Given the description of an element on the screen output the (x, y) to click on. 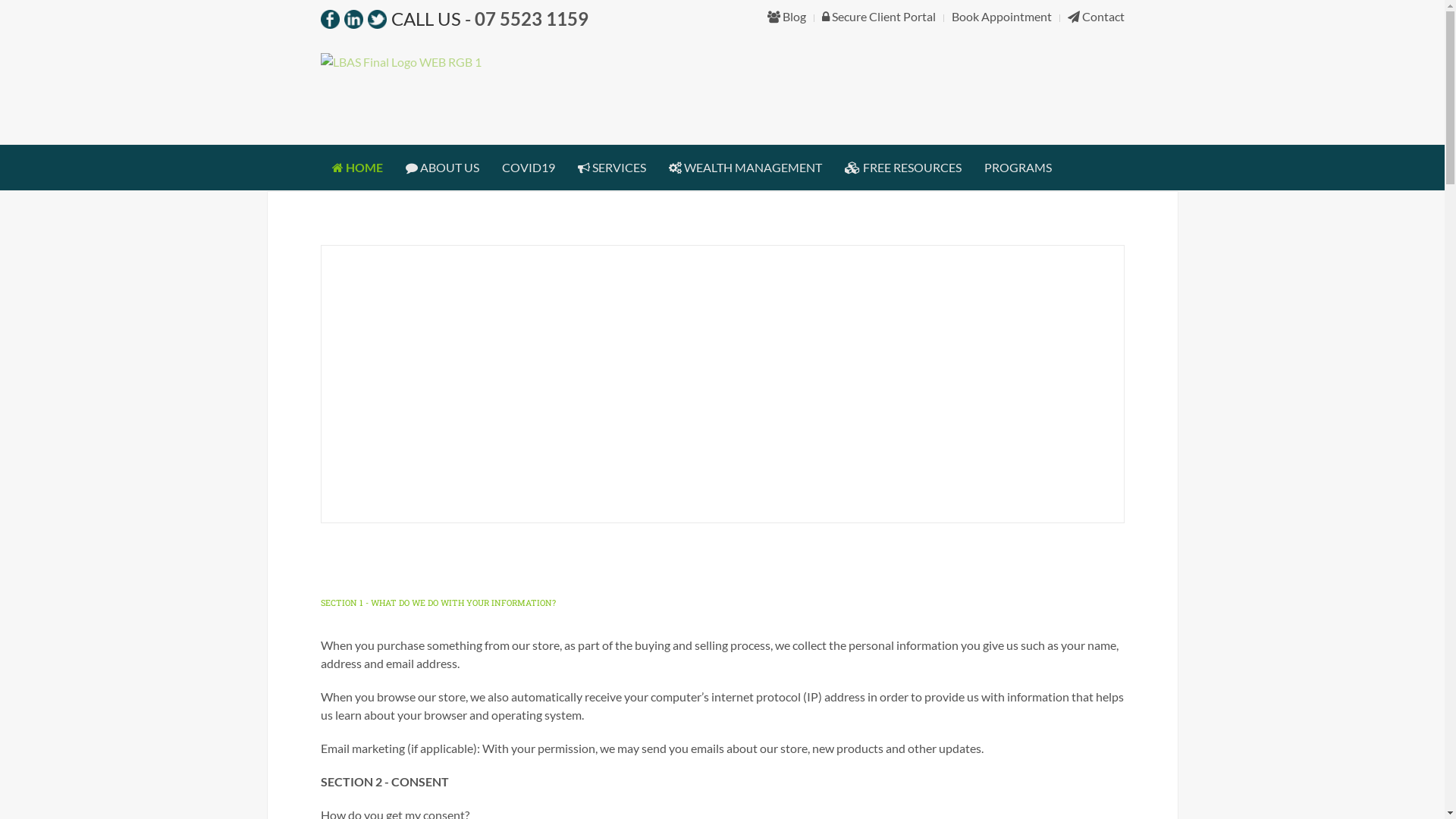
FREE RESOURCES Element type: text (902, 167)
PROGRAMS Element type: text (1017, 167)
ABOUT US Element type: text (442, 167)
Contact Element type: text (1095, 16)
COVID19 Element type: text (527, 167)
SERVICES Element type: text (610, 167)
Secure Client Portal Element type: text (878, 16)
WEALTH MANAGEMENT Element type: text (744, 167)
HOME Element type: text (356, 167)
Blog Element type: text (786, 16)
Book Appointment Element type: text (1000, 16)
